Given the description of an element on the screen output the (x, y) to click on. 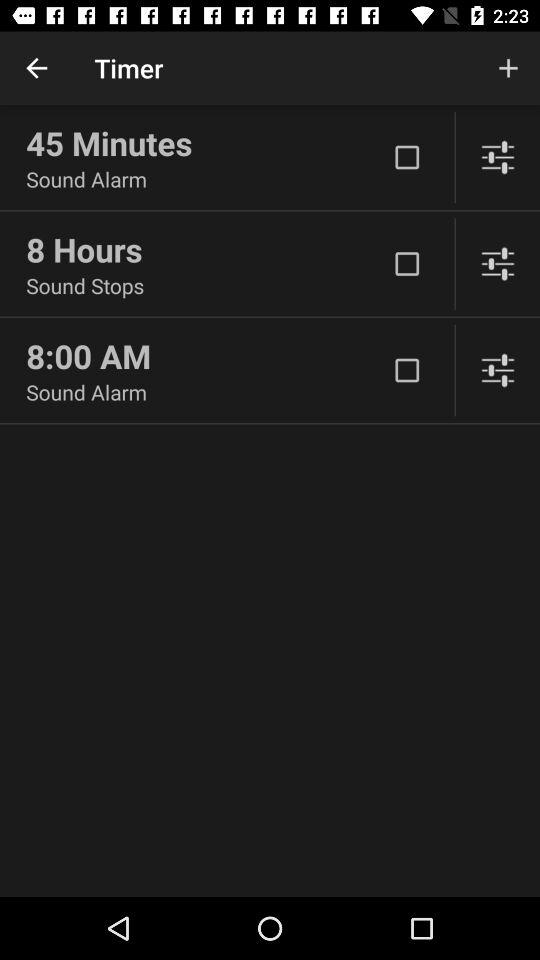
alarm setting (498, 370)
